Given the description of an element on the screen output the (x, y) to click on. 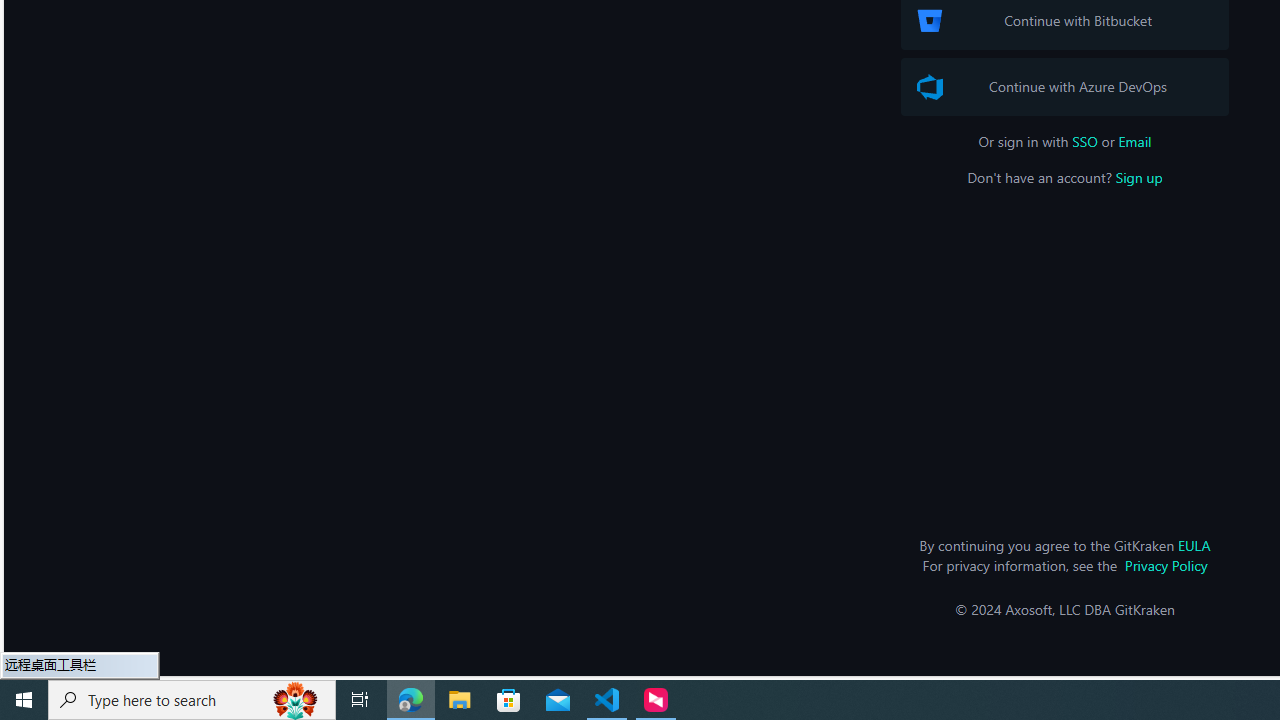
EULA (1193, 545)
SSO (1085, 141)
Bitbucket Logo (929, 20)
Privacy Policy (1165, 565)
Azure DevOps Logo (929, 87)
Email (1134, 141)
Sign up (1138, 177)
Azure DevOps Logo Continue with Azure DevOps (1064, 86)
